Given the description of an element on the screen output the (x, y) to click on. 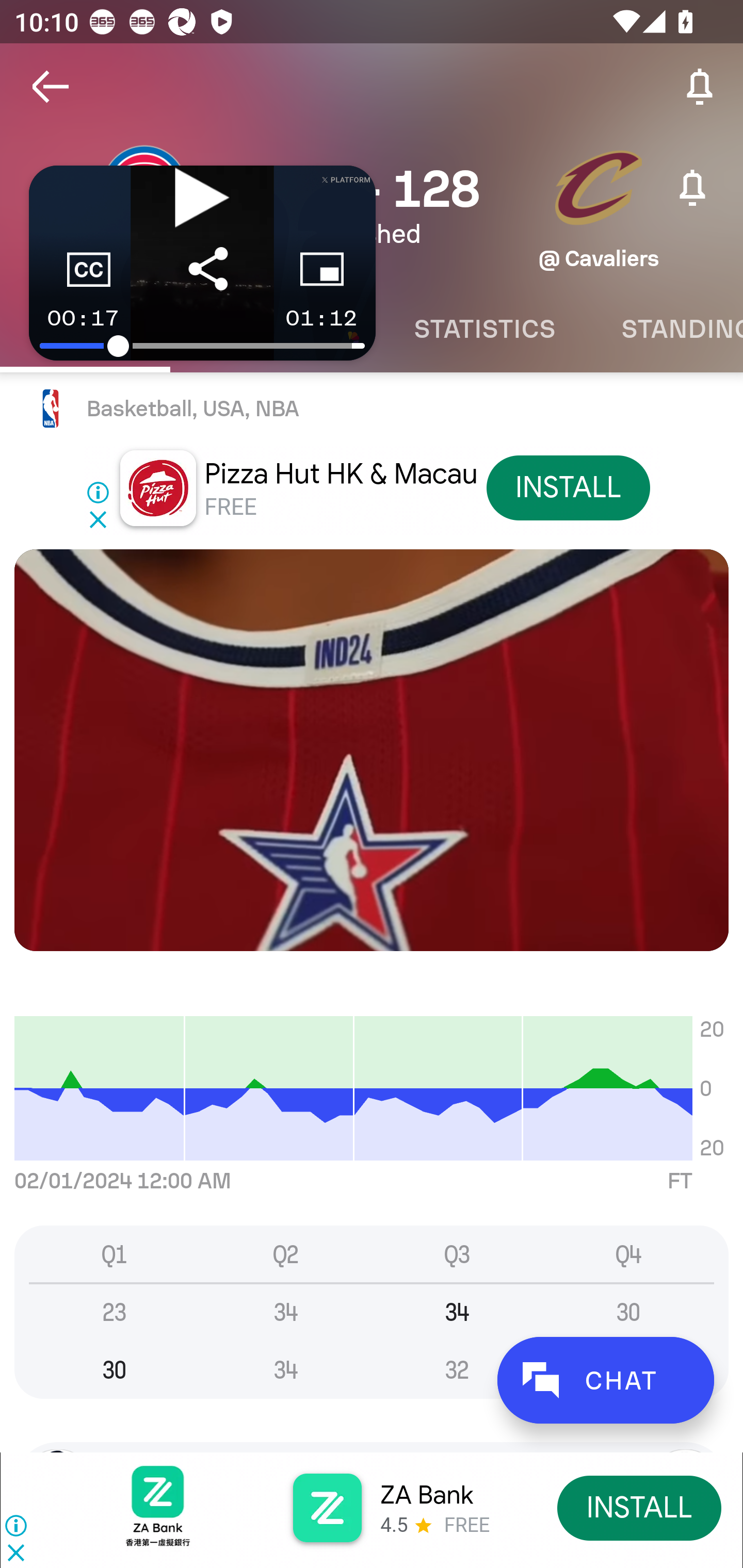
Navigate up (50, 86)
Statistics STATISTICS (484, 329)
Basketball, USA, NBA (371, 409)
Pizza Hut HK & Macau (340, 473)
INSTALL (567, 487)
FREE (230, 507)
CHAT (605, 1380)
INSTALL (639, 1507)
ZA Bank (426, 1494)
